Given the description of an element on the screen output the (x, y) to click on. 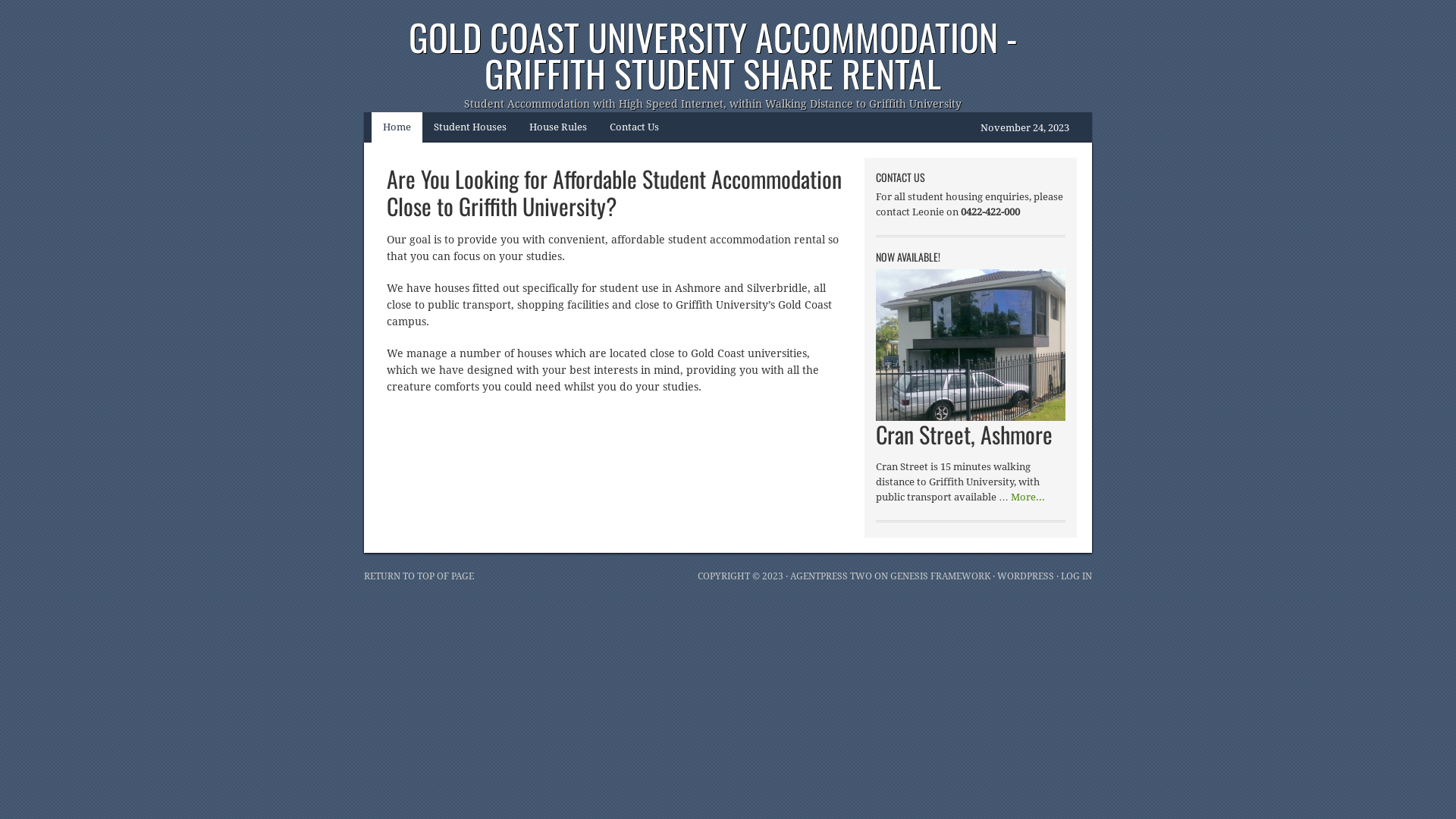
Cran Street, Ashmore Element type: text (963, 434)
RETURN TO TOP OF PAGE Element type: text (418, 576)
Student Houses Element type: text (469, 127)
WORDPRESS Element type: text (1025, 576)
GENESIS FRAMEWORK Element type: text (940, 576)
AGENTPRESS TWO Element type: text (831, 576)
House Rules Element type: text (557, 127)
LOG IN Element type: text (1076, 576)
More... Element type: text (1027, 496)
Contact Us Element type: text (634, 127)
Home Element type: text (396, 127)
